Given the description of an element on the screen output the (x, y) to click on. 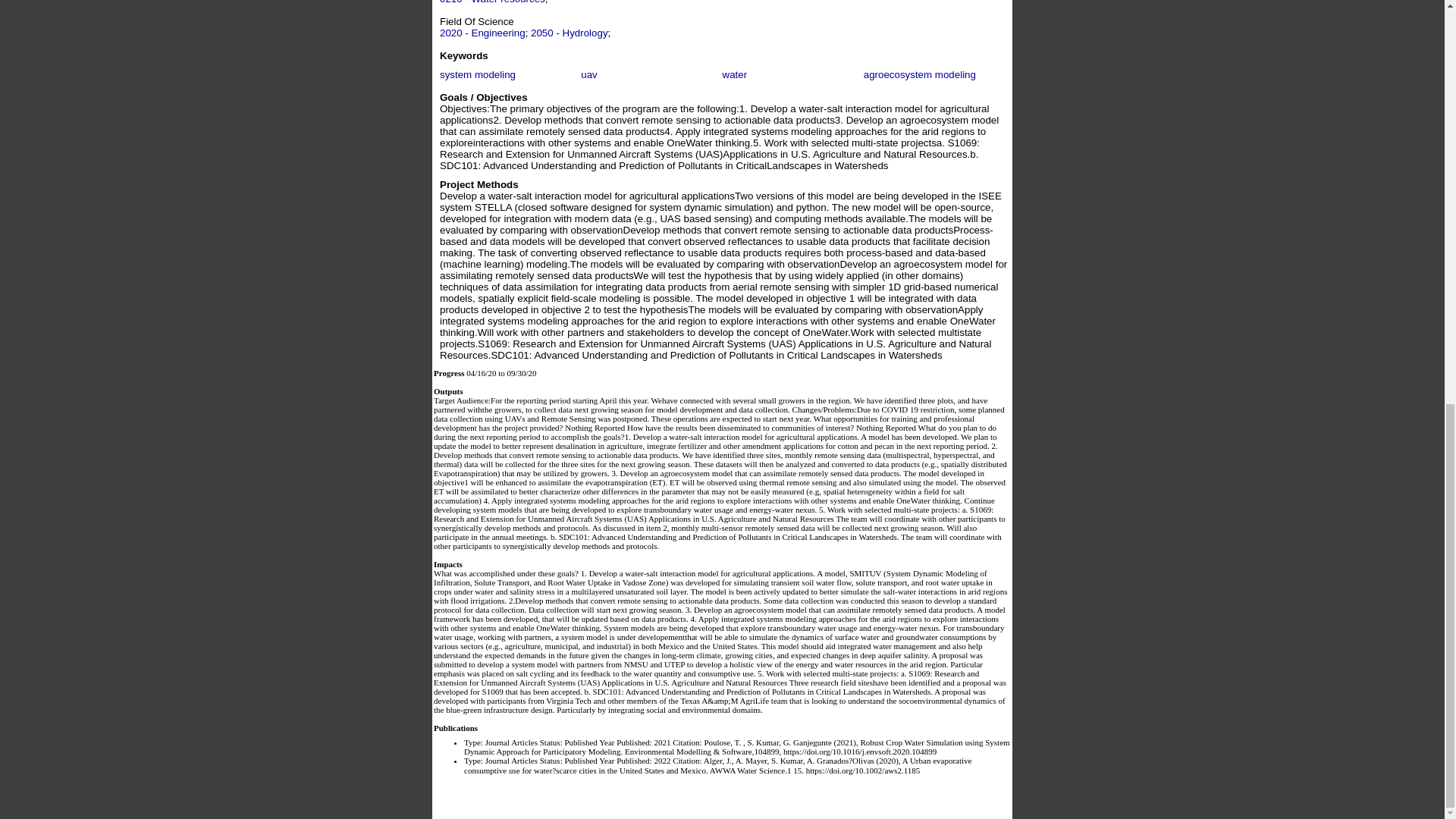
Click here for more on Engineering (482, 32)
agroecosystem modeling (919, 74)
0210 - Water resources (491, 2)
Click here for more on Water resources (491, 2)
Click here for more on Hydrology (569, 32)
2020 - Engineering (482, 32)
system modeling (477, 74)
water (734, 74)
uav (588, 74)
2050 - Hydrology (569, 32)
